Given the description of an element on the screen output the (x, y) to click on. 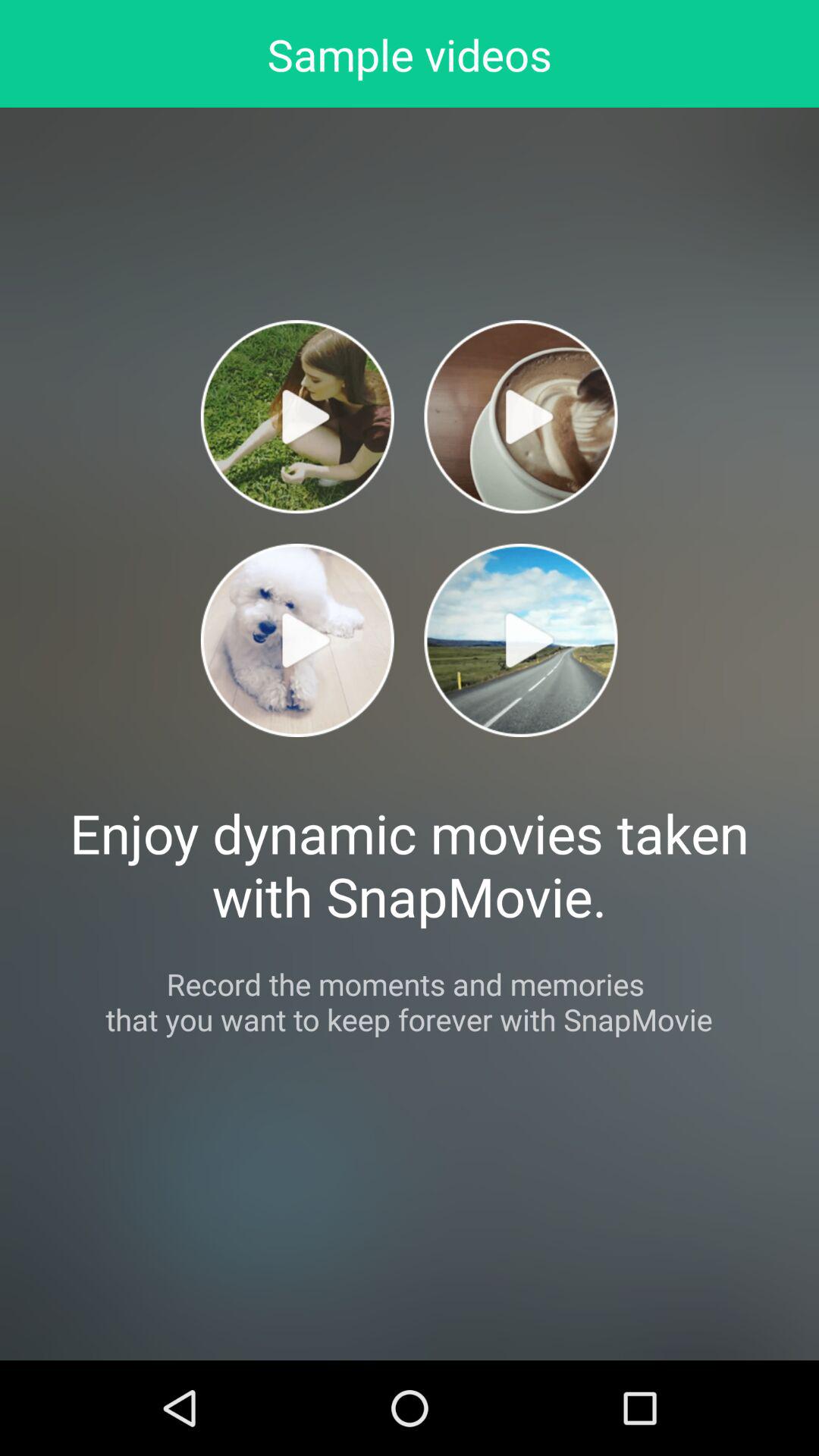
play this video (297, 640)
